Given the description of an element on the screen output the (x, y) to click on. 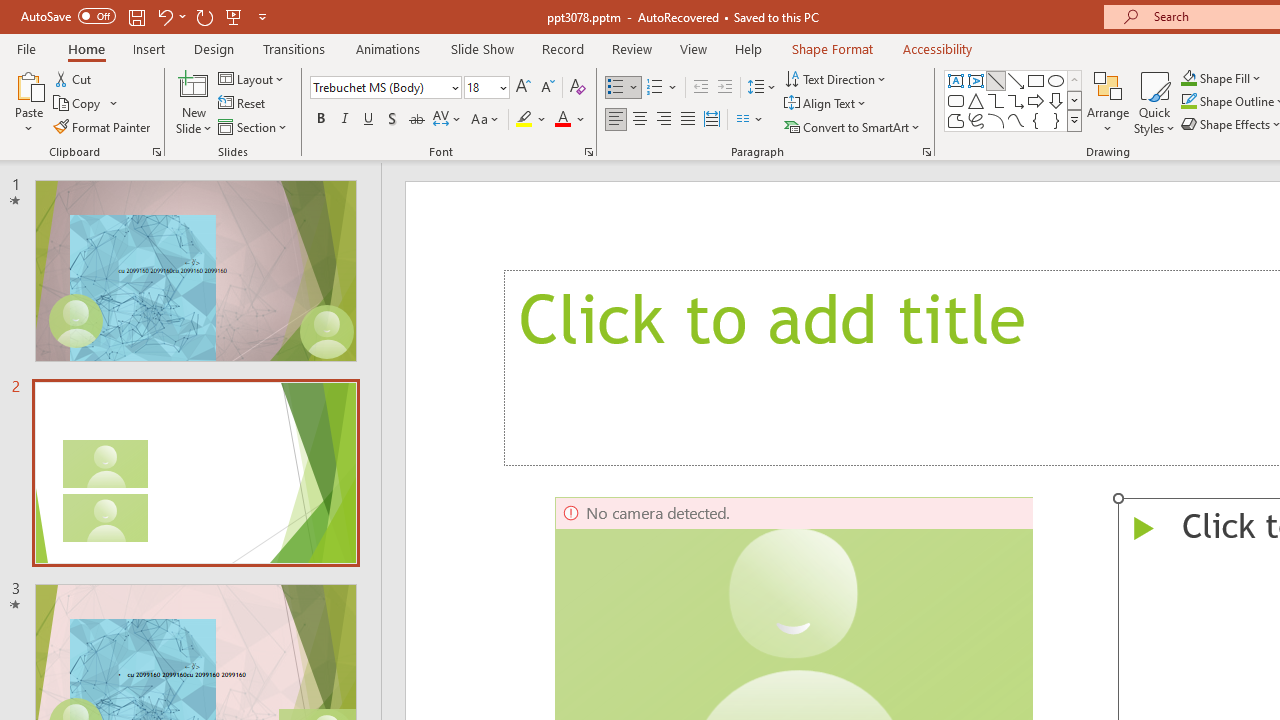
Align Right (663, 119)
Text Direction (836, 78)
Change Case (486, 119)
Decrease Font Size (547, 87)
Font Color Red (562, 119)
Distributed (712, 119)
Shapes (1074, 120)
Columns (750, 119)
Reset (243, 103)
